Given the description of an element on the screen output the (x, y) to click on. 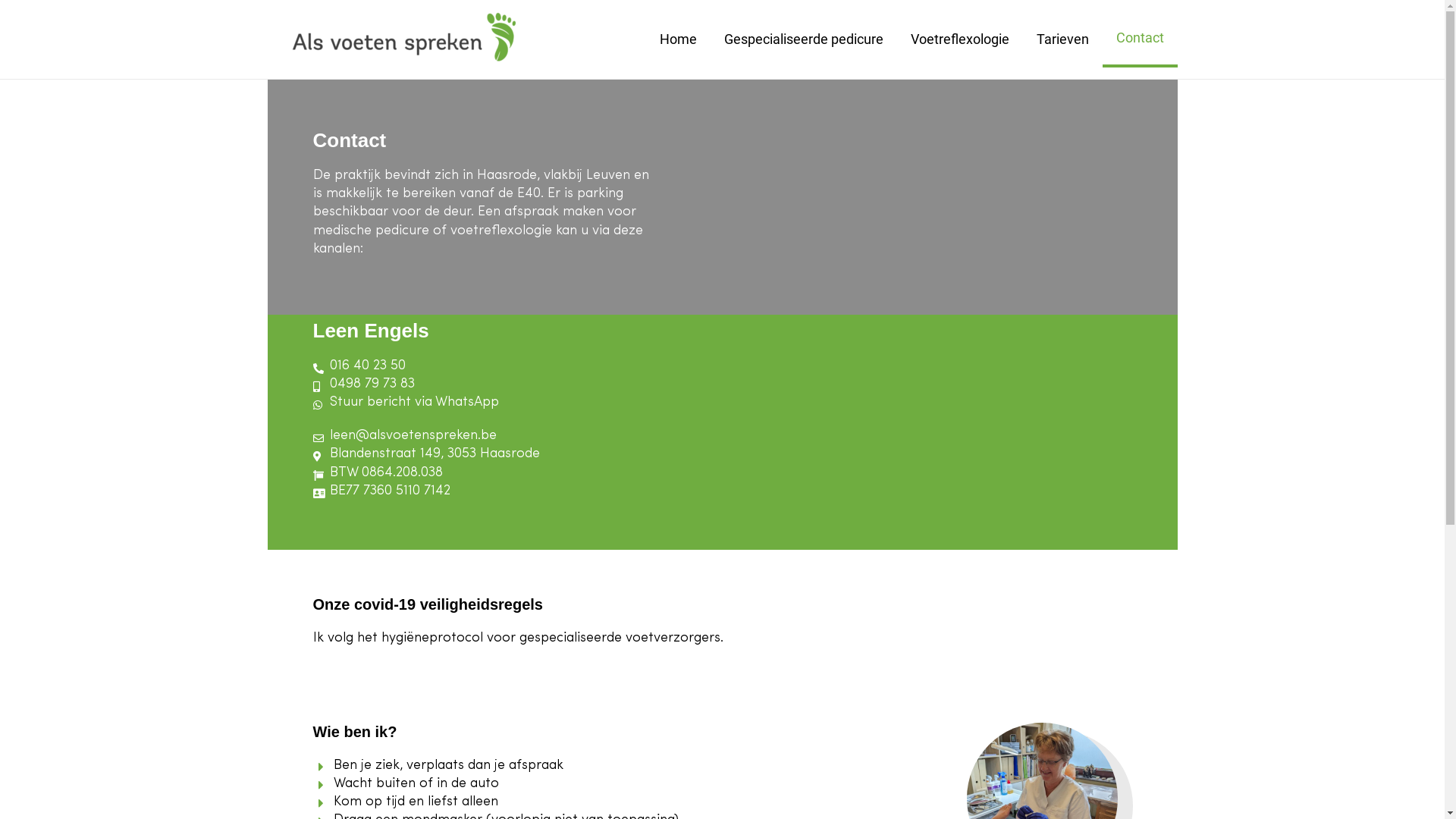
Gespecialiseerde pedicure Element type: text (802, 39)
Home Element type: text (678, 39)
Voetreflexologie Element type: text (959, 39)
leen@alsvoetenspreken.be Element type: text (404, 435)
016 40 23 50 Element type: text (358, 366)
0498 79 73 83 Element type: text (363, 384)
Stuur bericht via WhatsApp Element type: text (405, 402)
Tarieven Element type: text (1061, 39)
Contact Element type: text (1139, 39)
Blandenstraat 149, 3053 Haasrode, Belgium Element type: hover (971, 314)
